Given the description of an element on the screen output the (x, y) to click on. 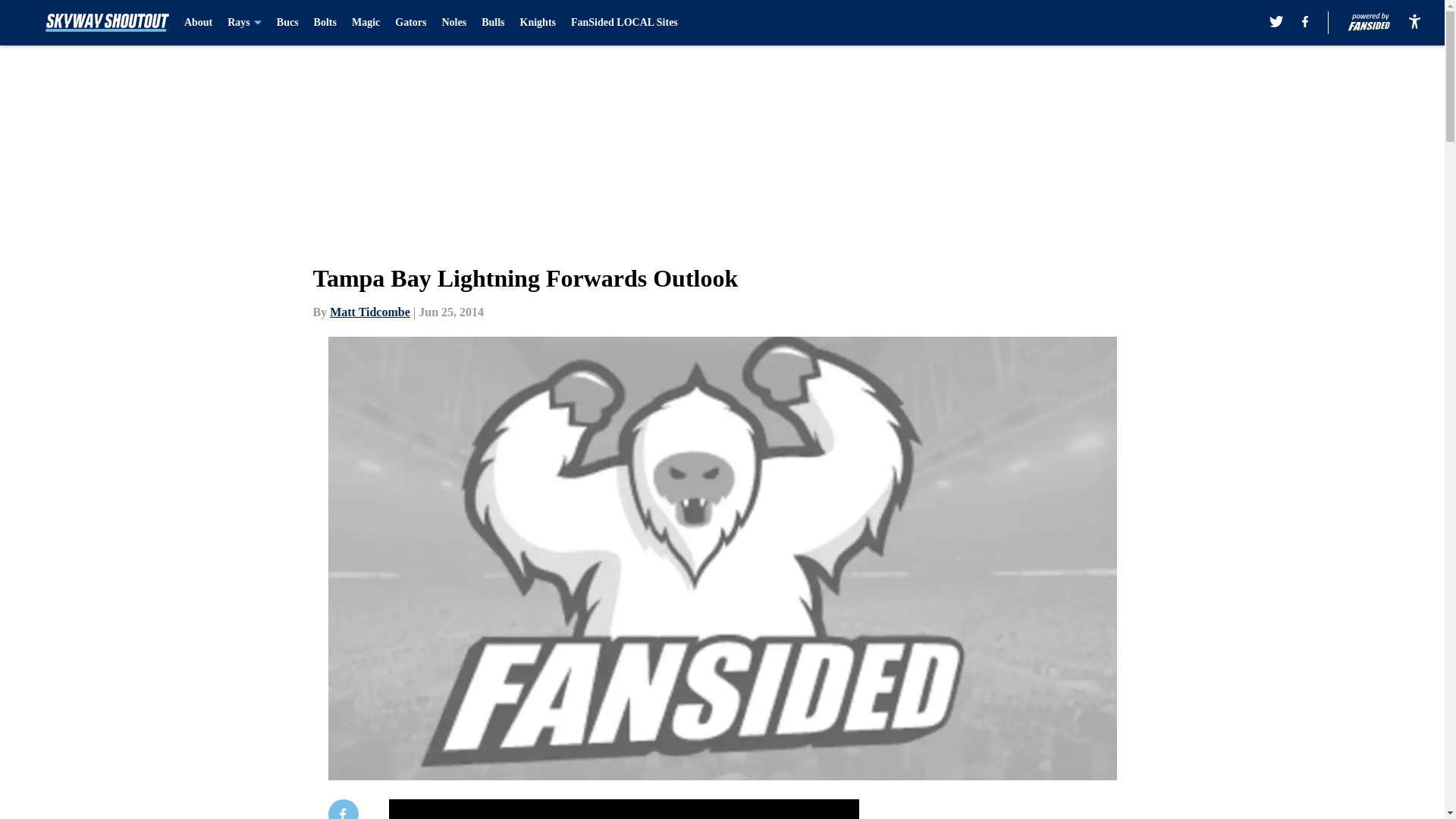
About (198, 22)
Noles (453, 22)
Bulls (492, 22)
FanSided LOCAL Sites (624, 22)
Knights (537, 22)
Gators (410, 22)
Matt Tidcombe (370, 311)
Bolts (325, 22)
Magic (366, 22)
Bucs (287, 22)
